Given the description of an element on the screen output the (x, y) to click on. 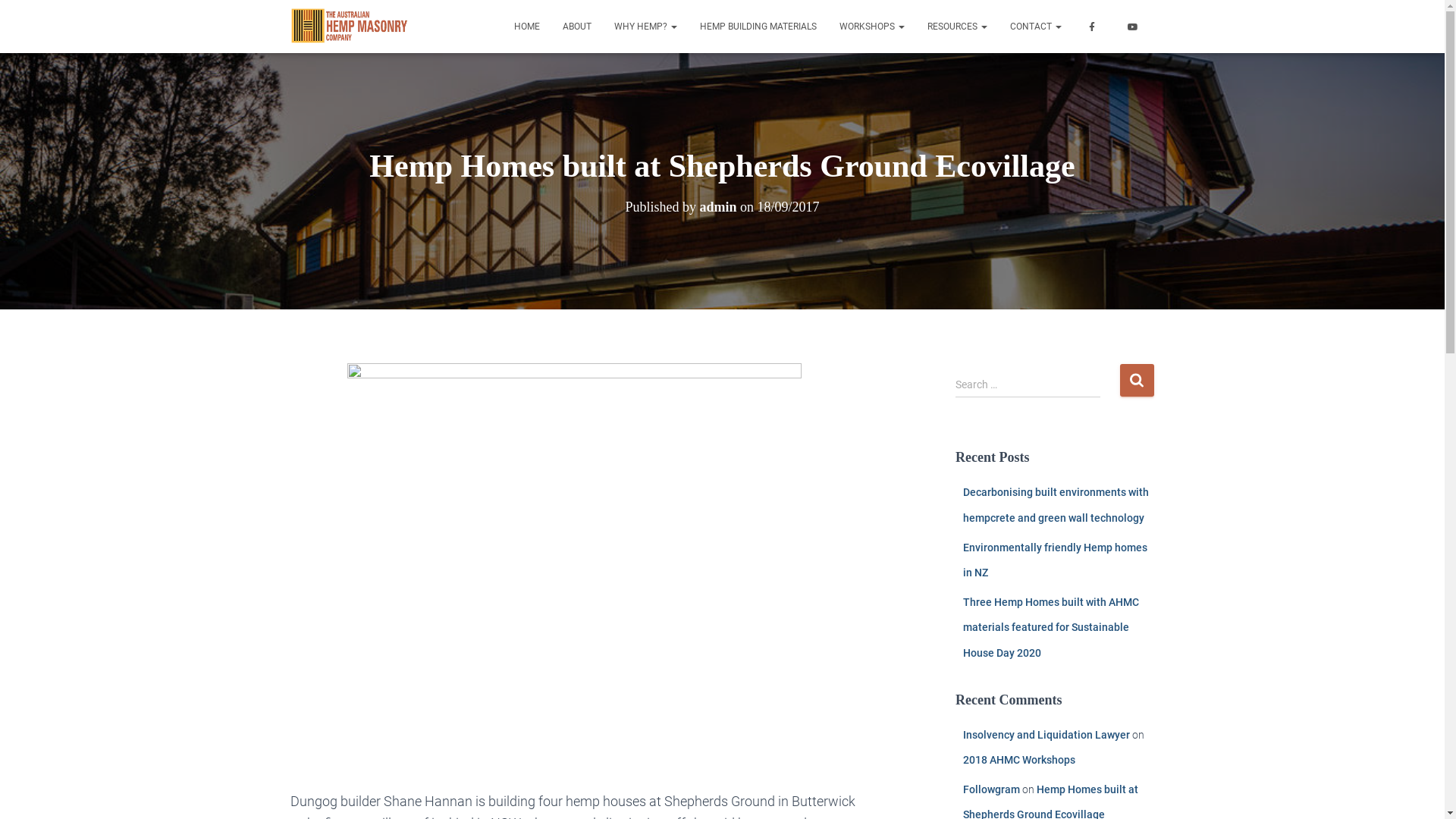
Australian Hemp Masonry Company Element type: hover (350, 26)
RESOURCES Element type: text (957, 26)
admin Element type: text (717, 206)
HEMP BUILDING MATERIALS Element type: text (758, 26)
Followgram Element type: text (991, 789)
WORKSHOPS Element type: text (872, 26)
Insolvency and Liquidation Lawyer Element type: text (1046, 734)
Environmentally friendly Hemp homes in NZ Element type: text (1055, 560)
Search Element type: text (1136, 380)
FACEBOOK Element type: text (1092, 26)
HOME Element type: text (526, 26)
CONTACT Element type: text (1034, 26)
2018 AHMC Workshops Element type: text (1019, 759)
ABOUT Element type: text (576, 26)
YOUTUBE Element type: text (1133, 26)
WHY HEMP? Element type: text (644, 26)
